Given the description of an element on the screen output the (x, y) to click on. 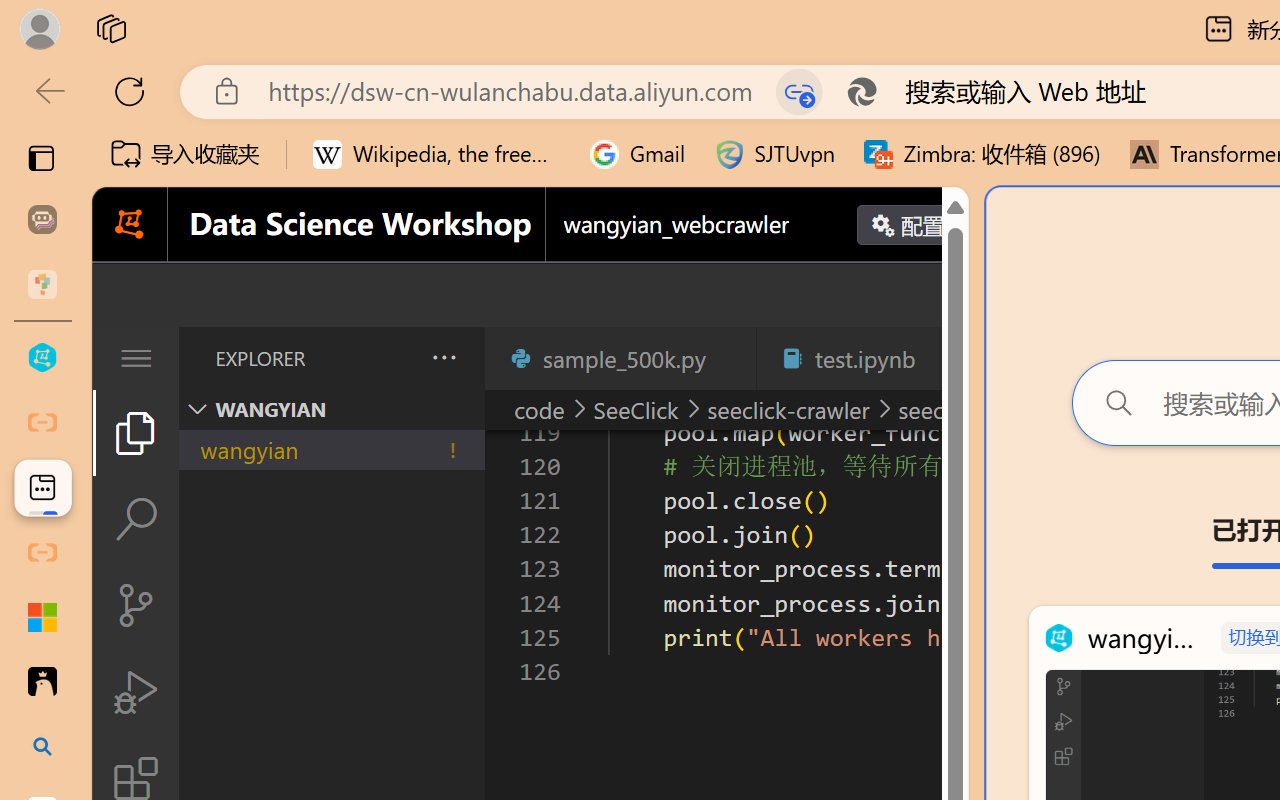
Explorer (Ctrl+Shift+E) (135, 432)
Search (Ctrl+Shift+F) (135, 519)
Explorer actions (391, 358)
Run and Debug (Ctrl+Shift+D) (135, 692)
Adjust indents and spacing - Microsoft Support (42, 617)
sample_500k.py (619, 358)
Tab actions (945, 358)
